Given the description of an element on the screen output the (x, y) to click on. 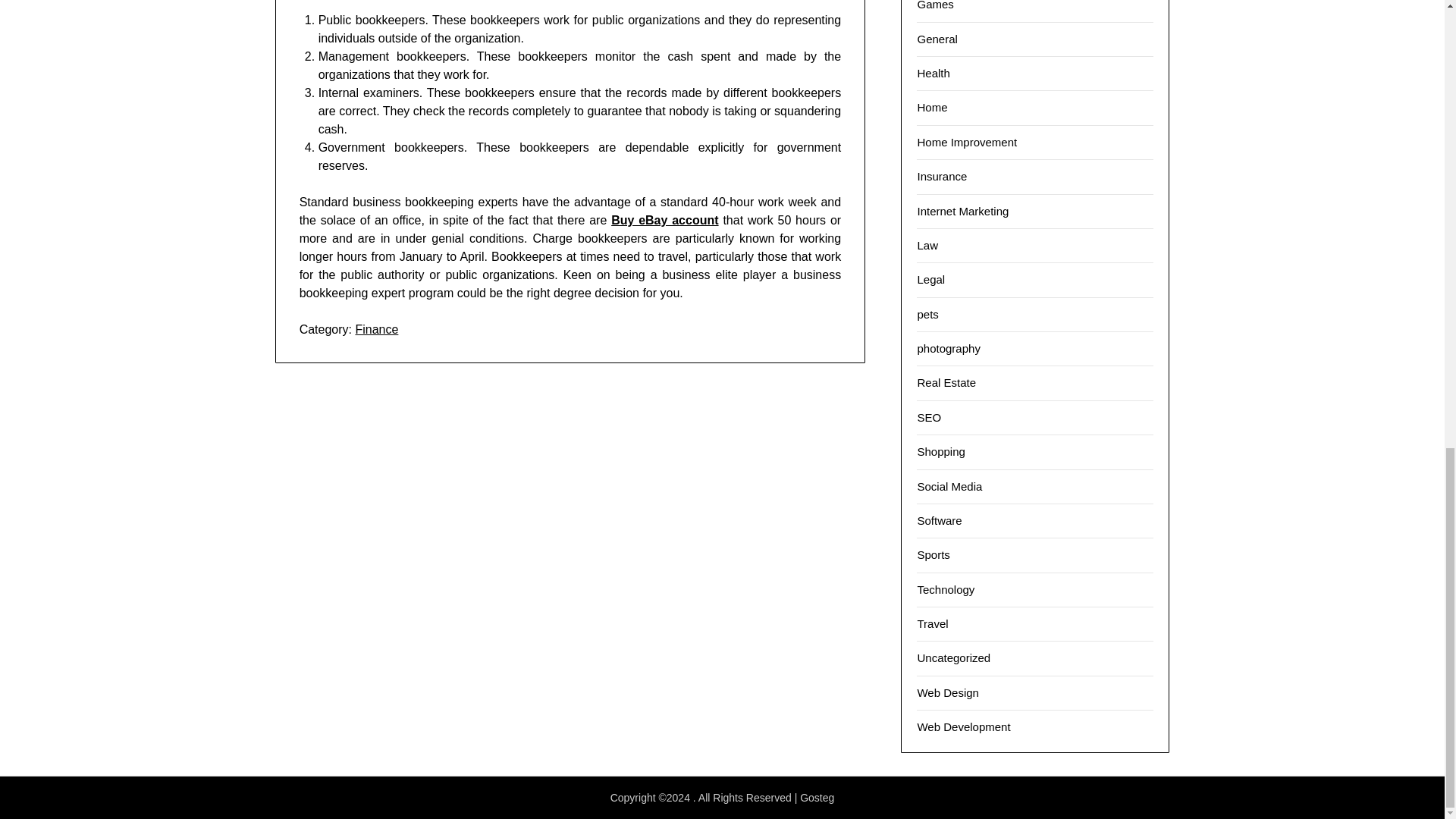
pets (927, 314)
Legal (930, 278)
Home (932, 106)
Finance (376, 328)
Health (933, 72)
Games (935, 5)
Buy eBay account (664, 219)
photography (948, 348)
Internet Marketing (963, 210)
Insurance (941, 175)
